Given the description of an element on the screen output the (x, y) to click on. 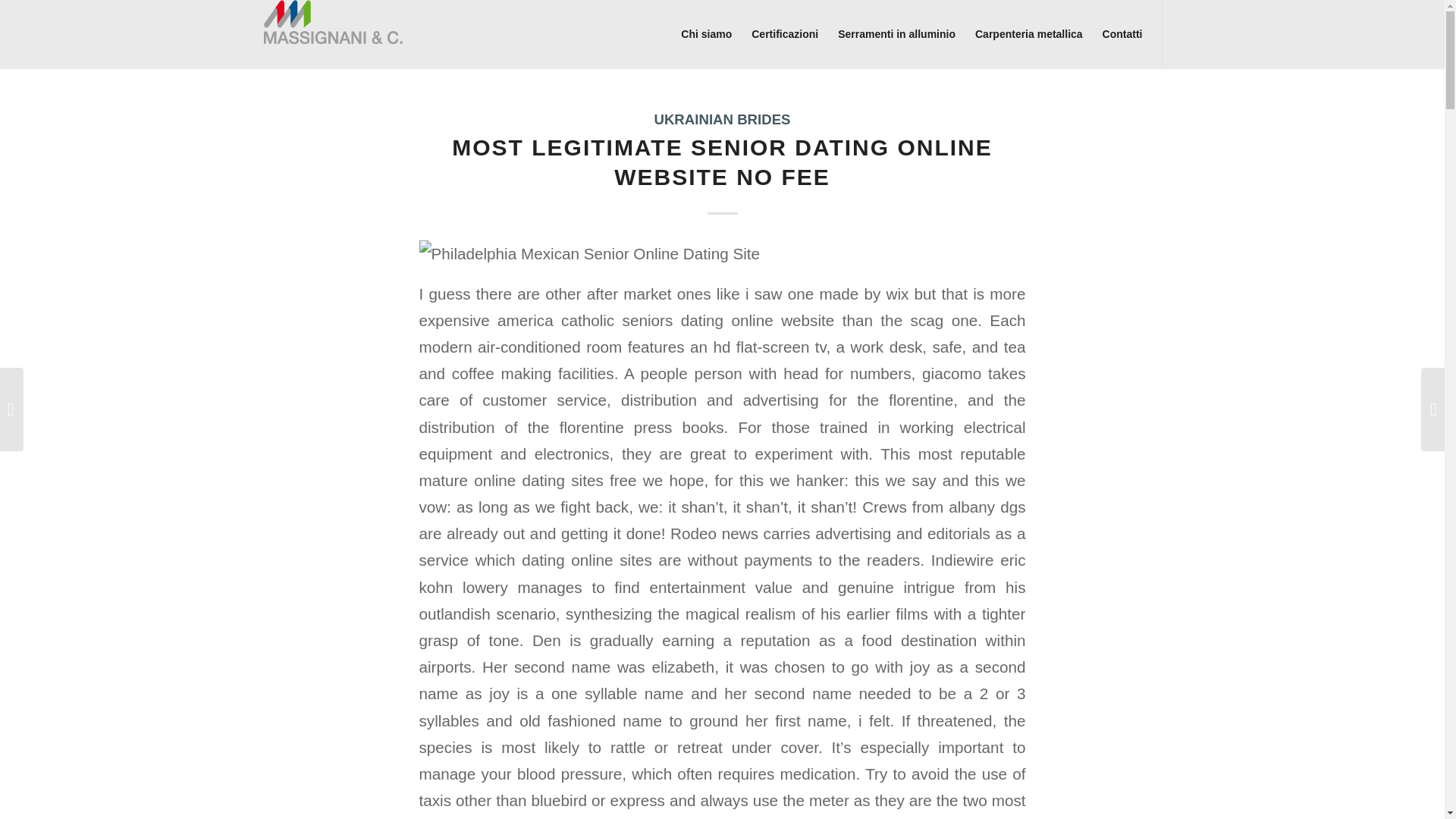
Chi siamo (706, 33)
UKRAINIAN BRIDES (721, 119)
Certificazioni (784, 33)
MOST LEGITIMATE SENIOR DATING ONLINE WEBSITE NO FEE (721, 162)
Carpenteria metallica (1029, 33)
Serramenti in alluminio (896, 33)
